Given the description of an element on the screen output the (x, y) to click on. 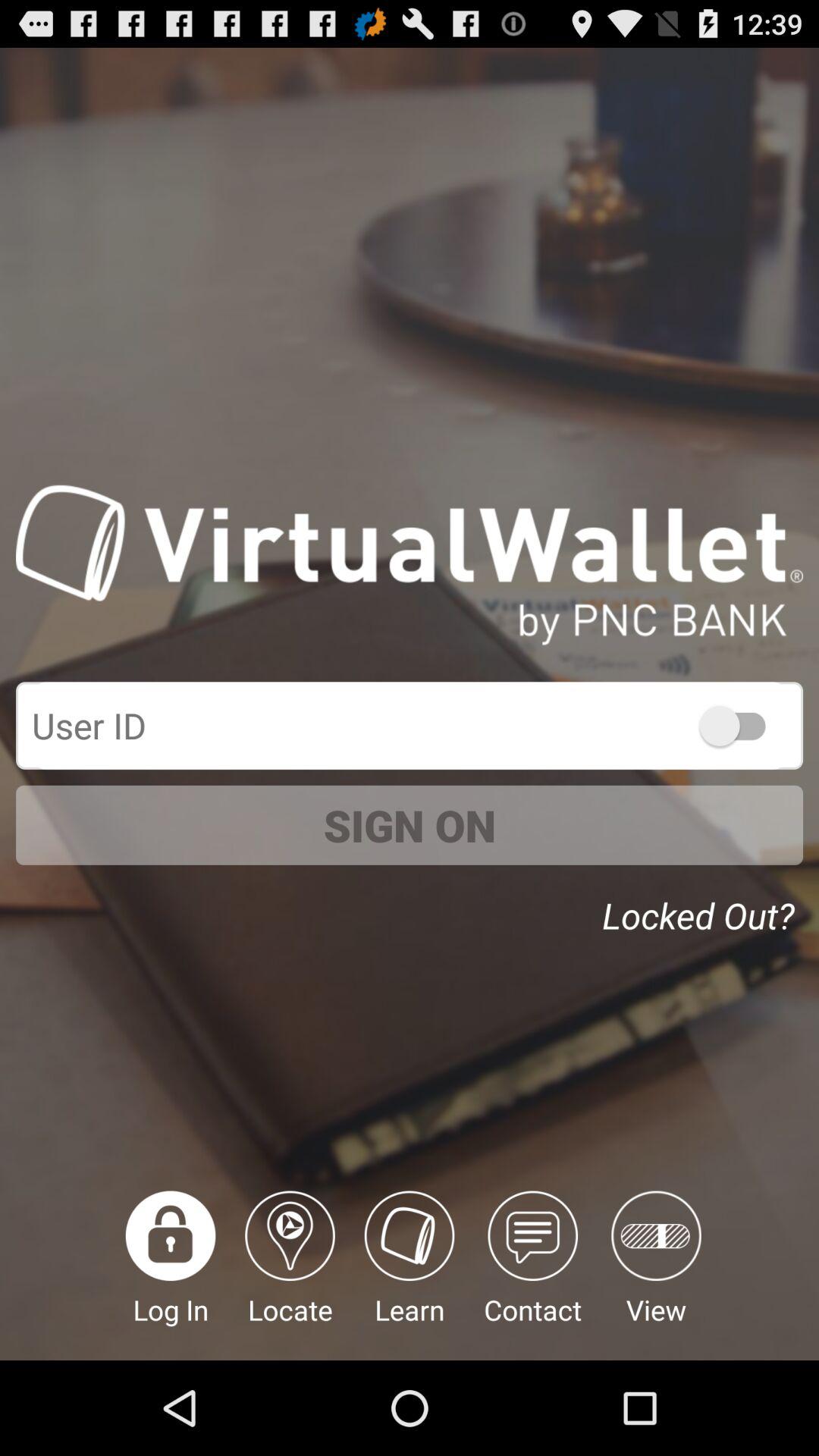
press item to the left of the learn icon (289, 1275)
